Given the description of an element on the screen output the (x, y) to click on. 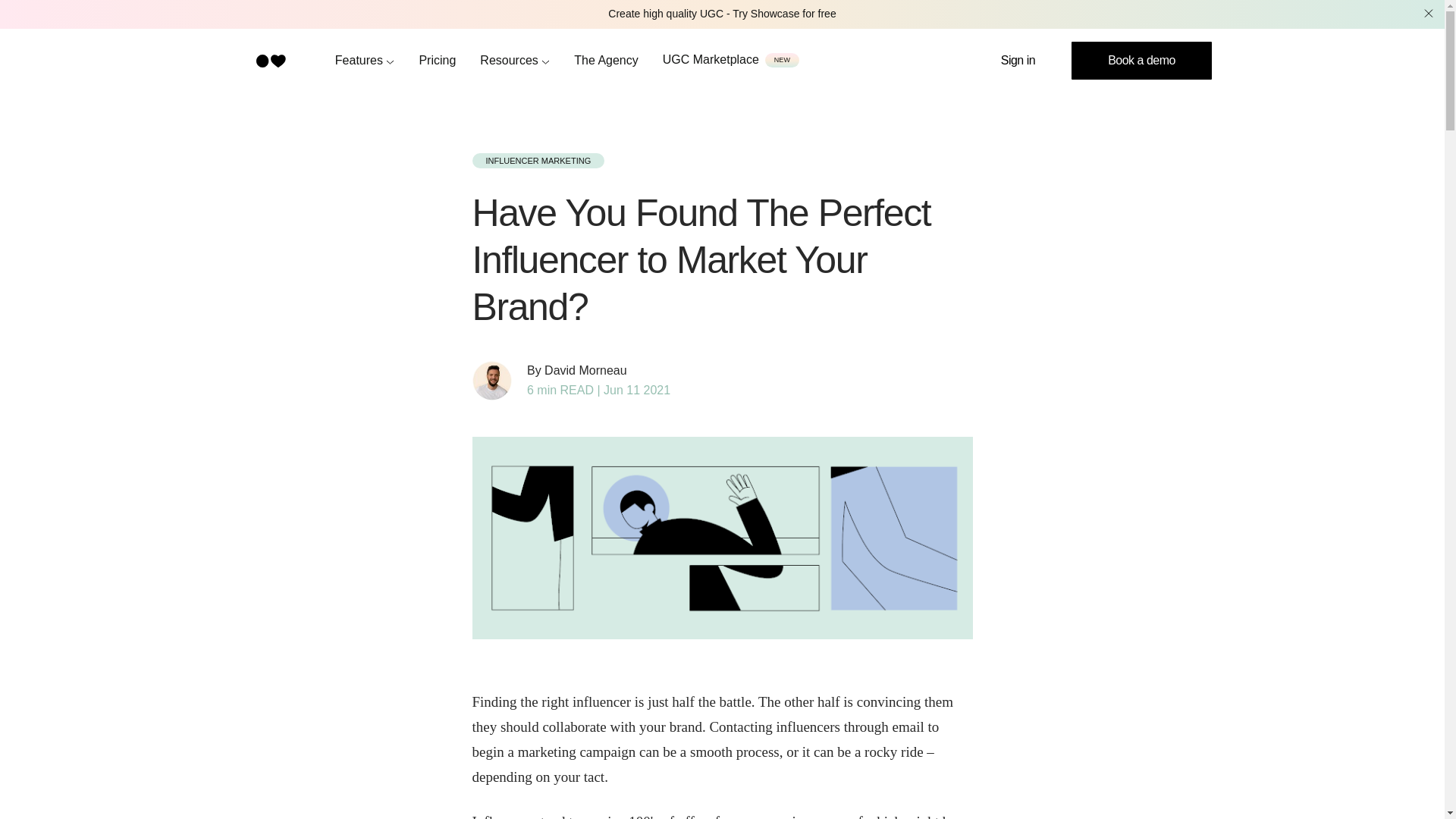
UGC Marketplace (710, 59)
Book a demo (1141, 60)
The Agency (606, 60)
Features (364, 60)
Resources (515, 60)
Pricing (437, 60)
Features (364, 60)
Pricing (437, 60)
inBeat (269, 60)
Create high quality UGC - Try Showcase for free (722, 13)
UGC Marketplace (710, 59)
Inbeat Agency (606, 60)
Book a demo (1141, 60)
Sign in (1017, 60)
Resources (515, 60)
